Given the description of an element on the screen output the (x, y) to click on. 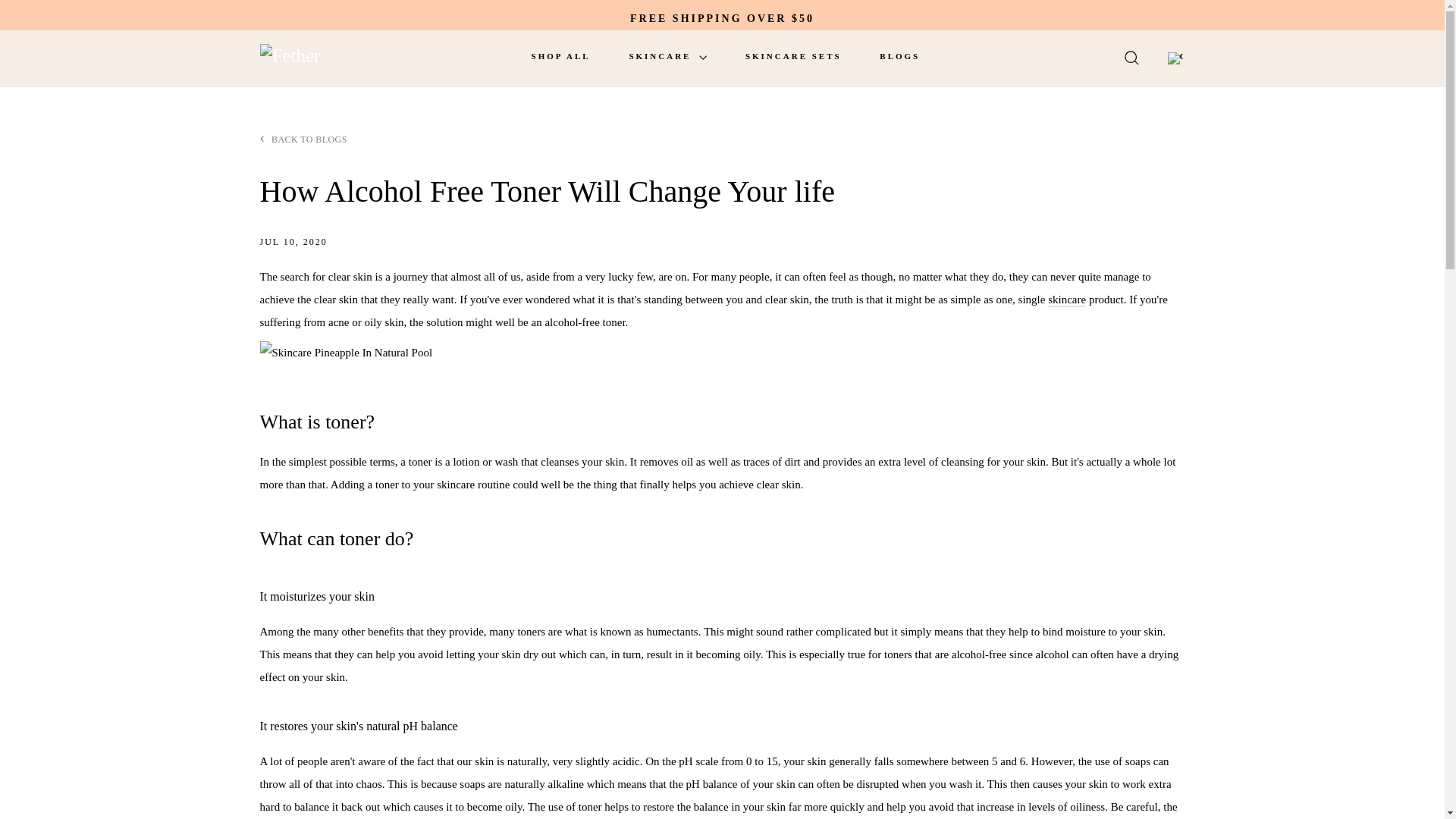
SHOP ALL (560, 56)
SEARCH (1131, 58)
CART (1174, 56)
SKINCARE SETS (793, 56)
BLOGS (899, 56)
SKINCARE (667, 56)
